Given the description of an element on the screen output the (x, y) to click on. 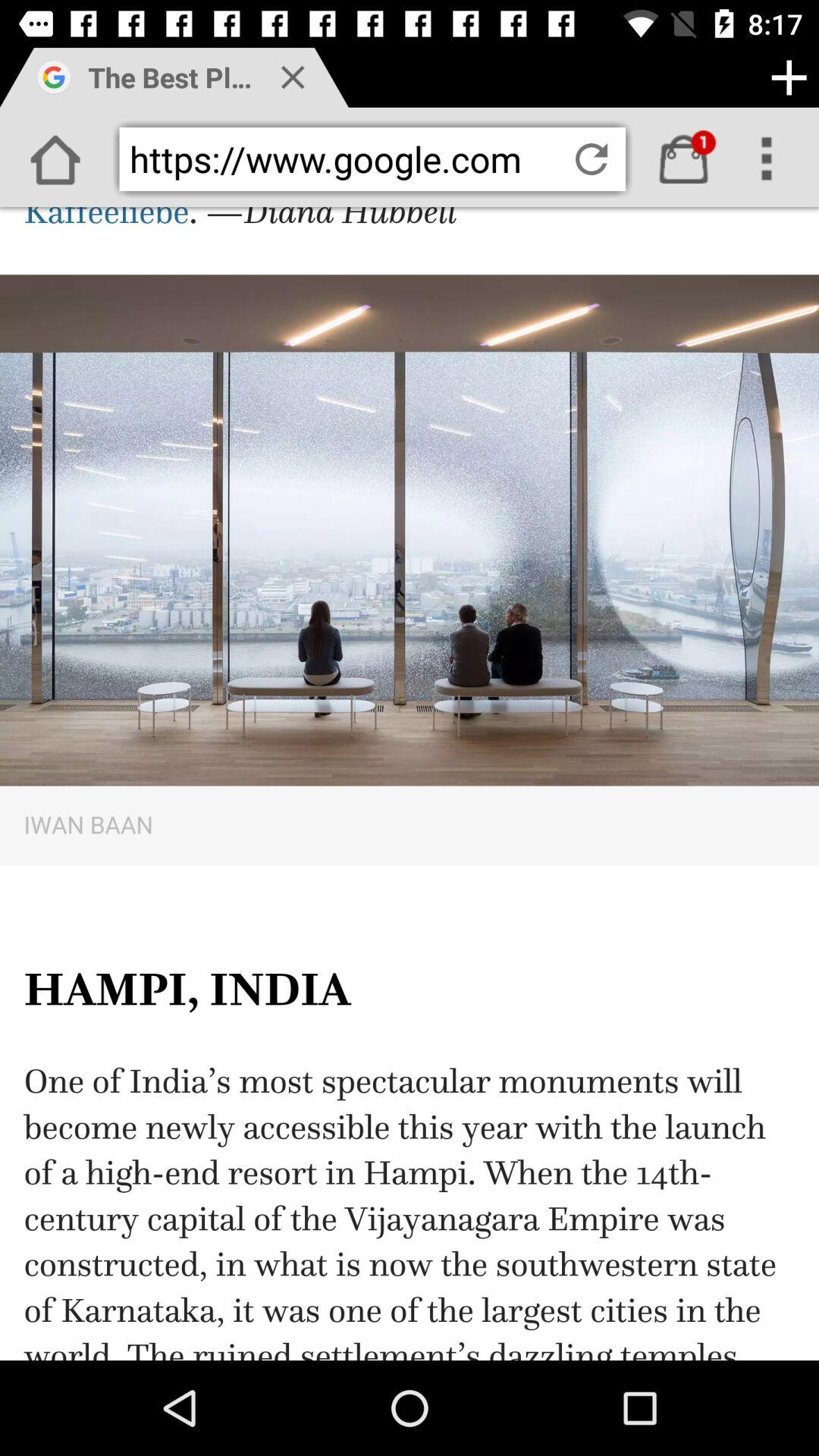
new tab (789, 77)
